Given the description of an element on the screen output the (x, y) to click on. 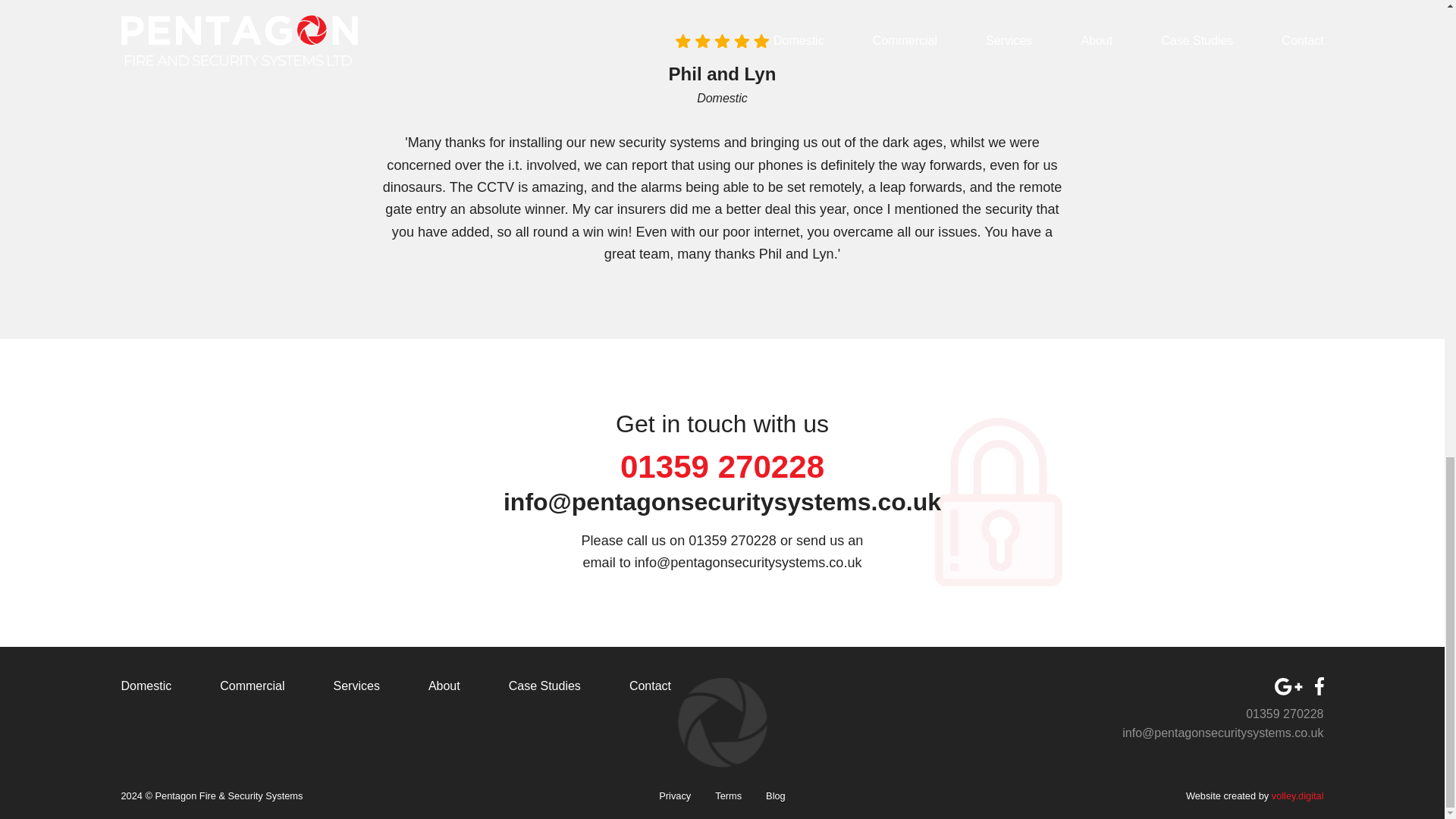
Case Studies (544, 687)
Commercial (251, 687)
Contact (649, 687)
Terms (727, 797)
Domestic (145, 687)
About (444, 687)
Privacy (674, 797)
volley.digital (1297, 796)
01359 270228 (1284, 714)
Blog (775, 797)
